Given the description of an element on the screen output the (x, y) to click on. 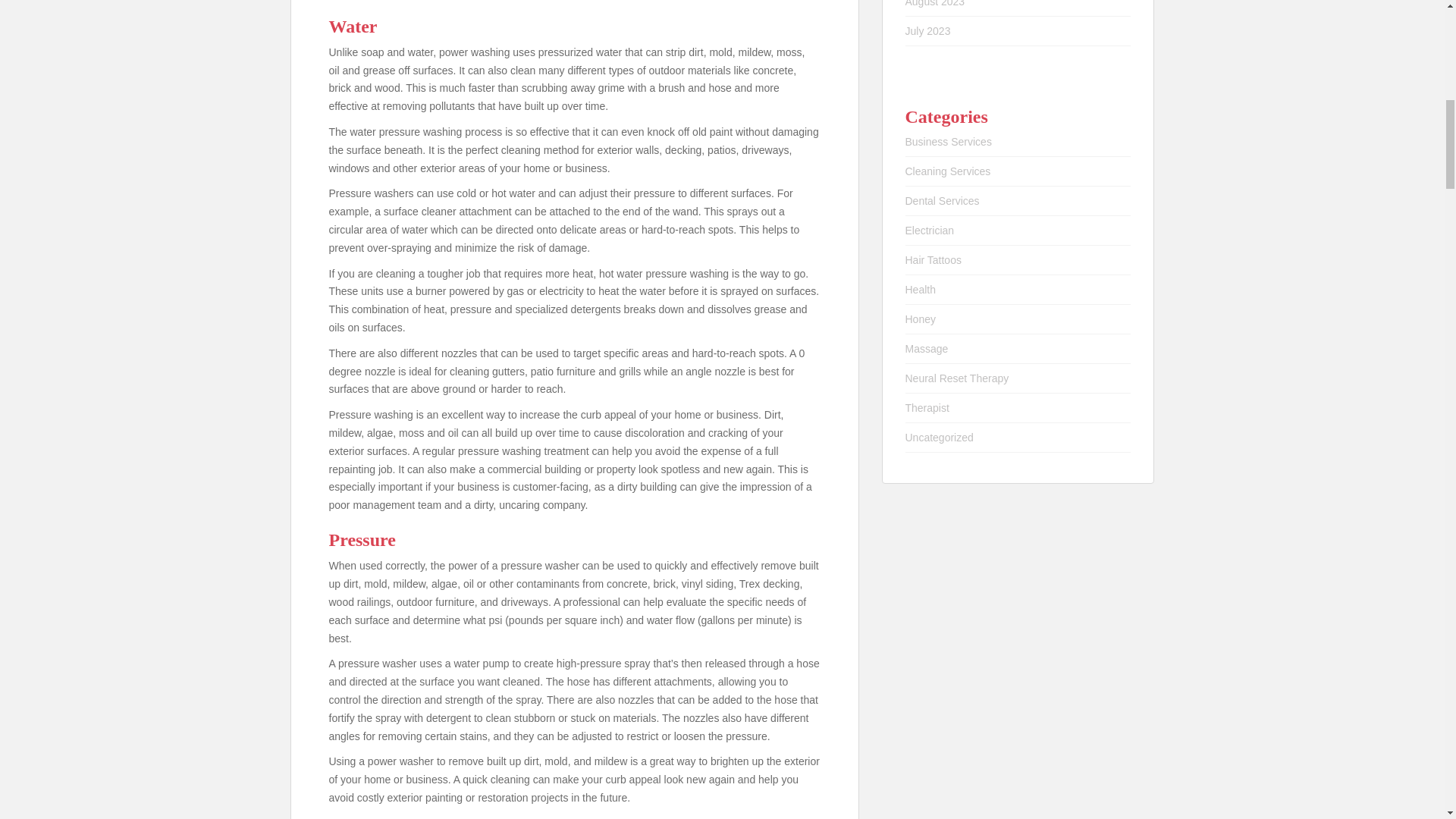
Dental Services (942, 200)
Business Services (948, 141)
Health (920, 289)
Hair Tattoos (932, 259)
July 2023 (927, 30)
Cleaning Services (948, 171)
Electrician (930, 230)
August 2023 (935, 3)
